Given the description of an element on the screen output the (x, y) to click on. 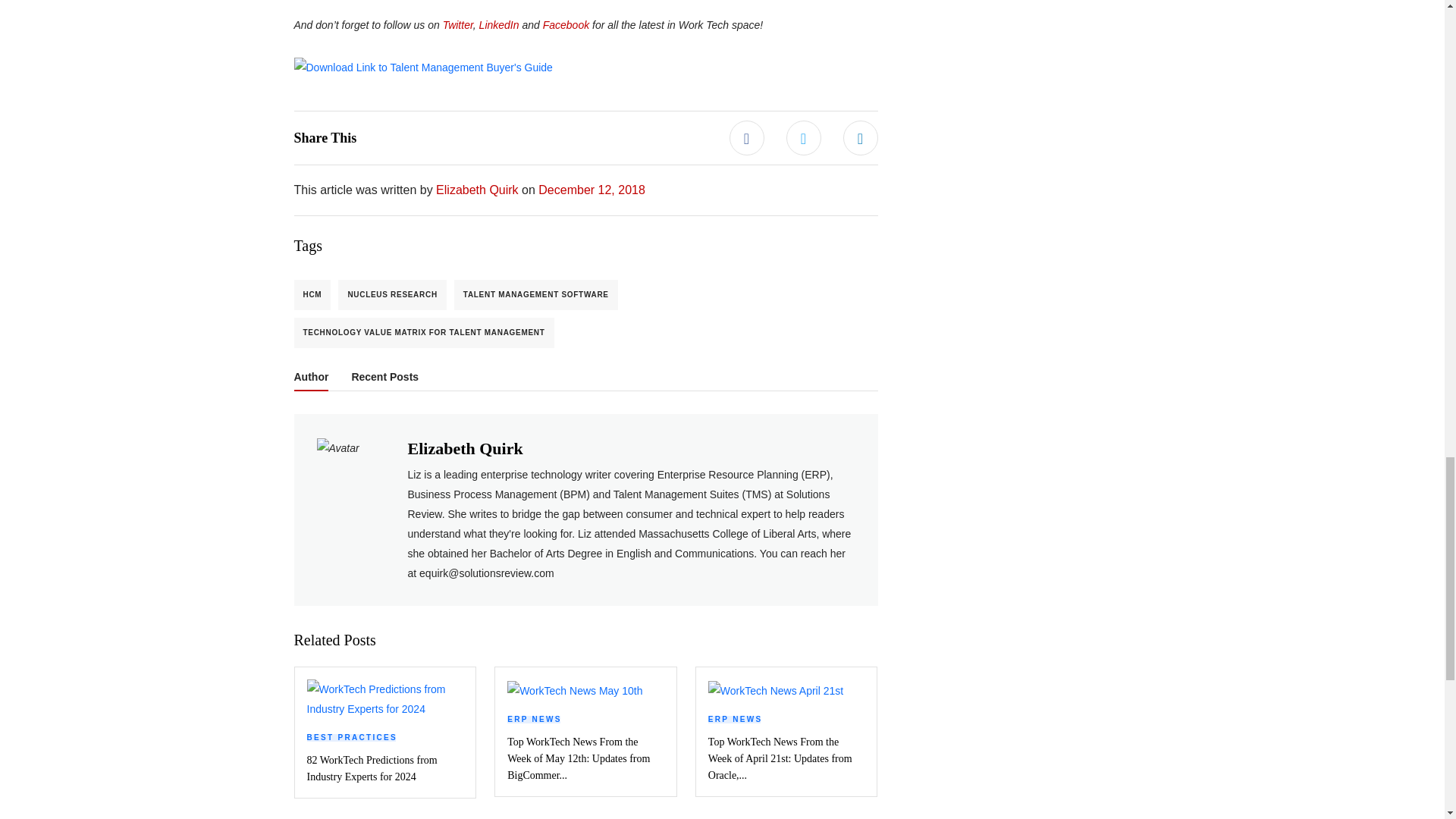
LinkedIn  (500, 24)
Facebook  (567, 24)
Elizabeth Quirk (476, 189)
Talent Management Buyer's Guide (423, 66)
HCM (312, 295)
NUCLEUS RESEARCH (391, 295)
December 12, 2018 (591, 189)
Twitter (457, 24)
